Given the description of an element on the screen output the (x, y) to click on. 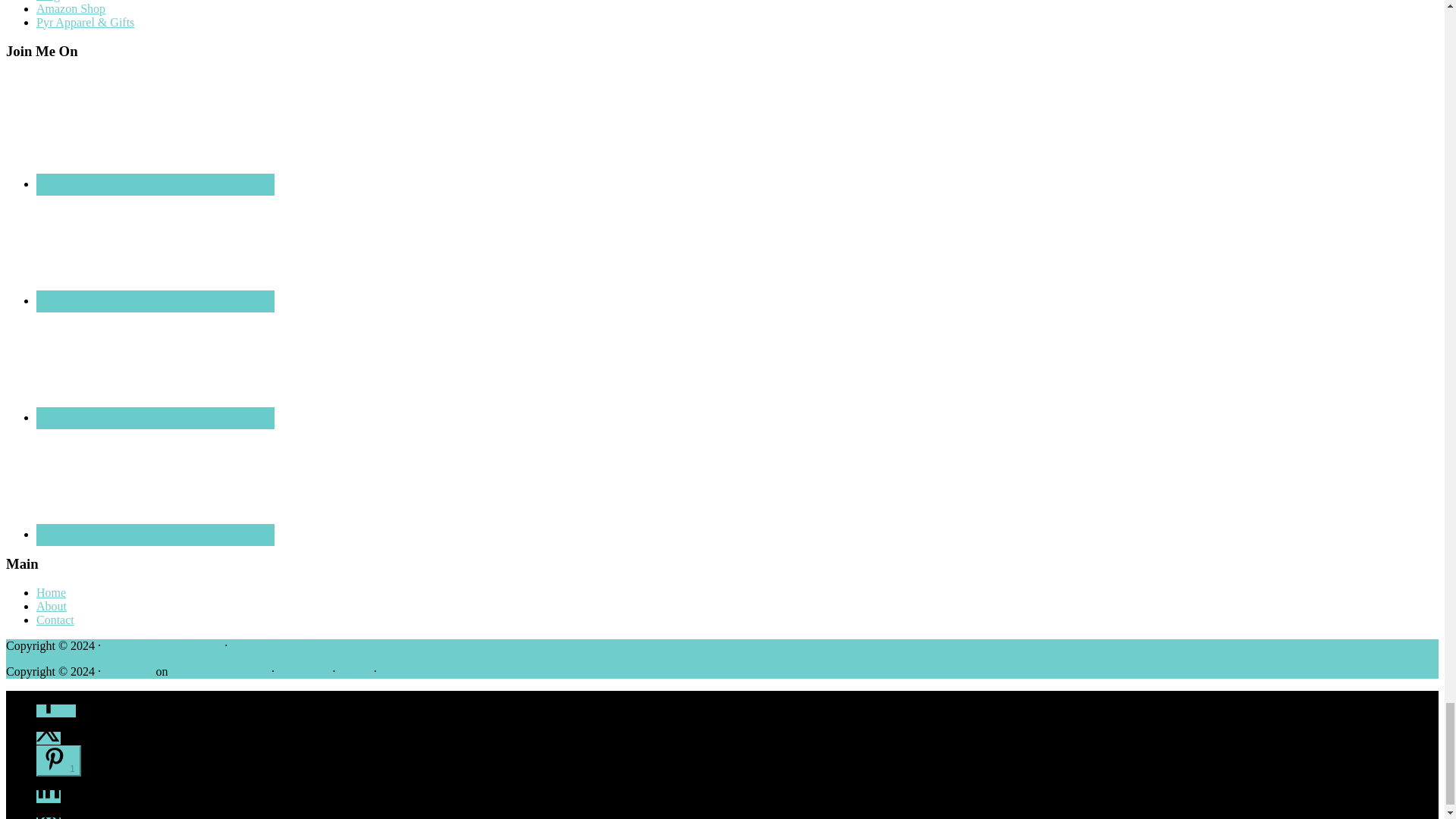
Save to Pinterest (58, 760)
Share on LinkedIn (48, 796)
Share on X (48, 738)
Studio Mommy (162, 645)
Pinterest (155, 481)
Email (155, 131)
Facebook (155, 247)
Share on Facebook (55, 710)
Instagram (155, 364)
